Given the description of an element on the screen output the (x, y) to click on. 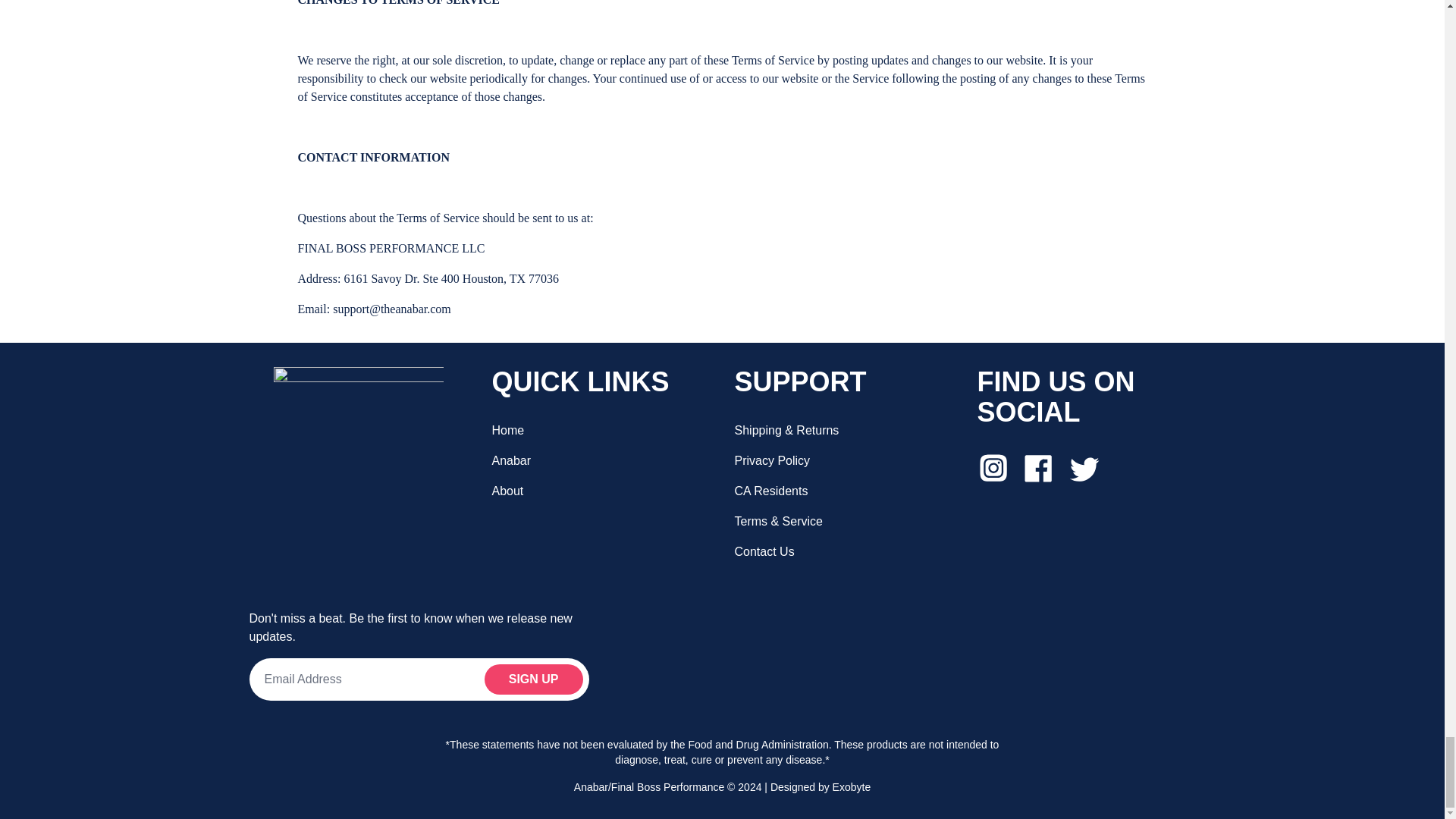
Privacy Policy (771, 460)
About (507, 490)
Exobyte (851, 787)
Anabar (511, 460)
CA Residents (770, 490)
Home (508, 430)
SIGN UP (533, 679)
Contact Us (763, 551)
